Given the description of an element on the screen output the (x, y) to click on. 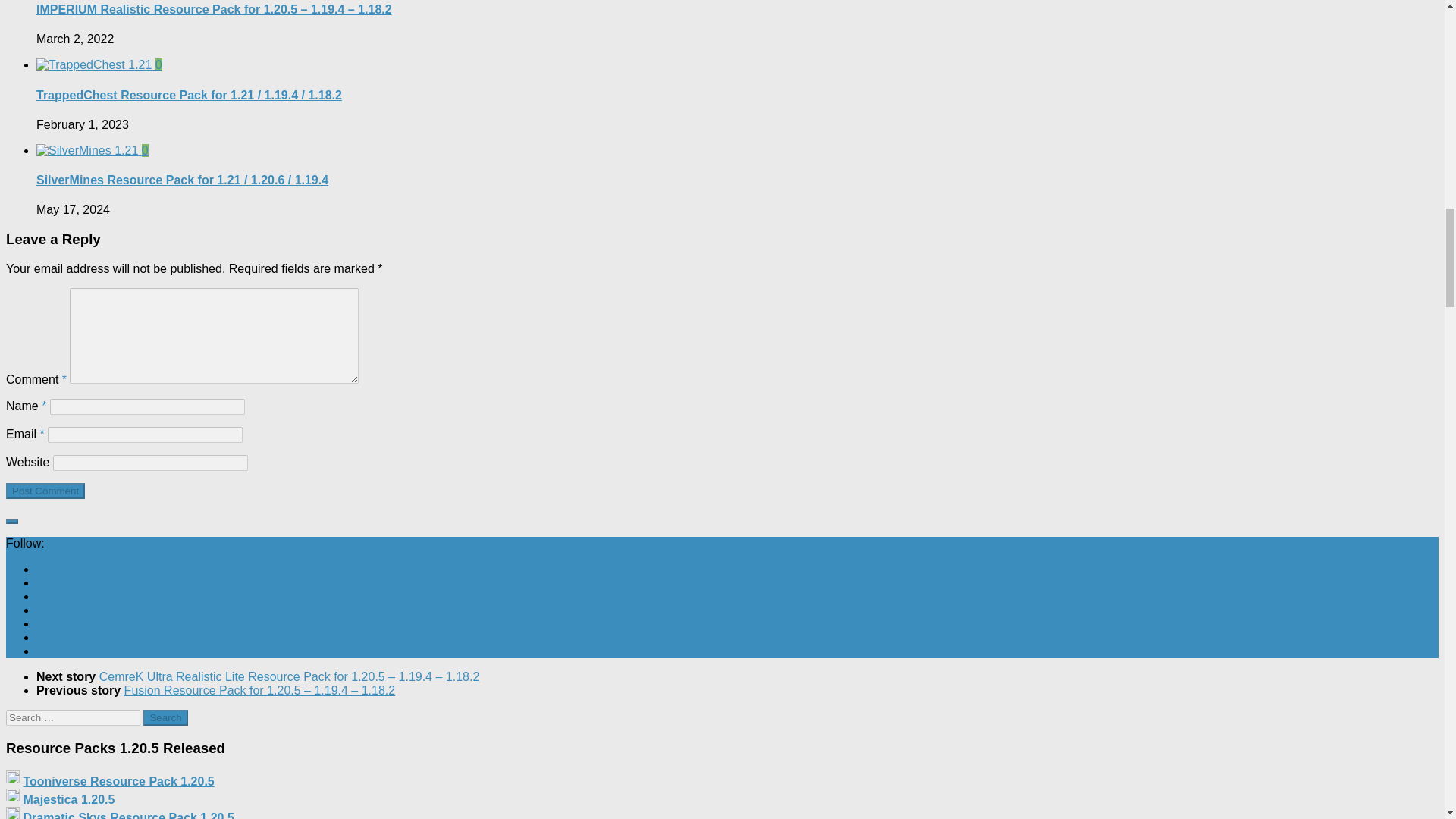
Expand Sidebar (11, 521)
Search (164, 717)
Post Comment (44, 490)
Search (164, 717)
